Given the description of an element on the screen output the (x, y) to click on. 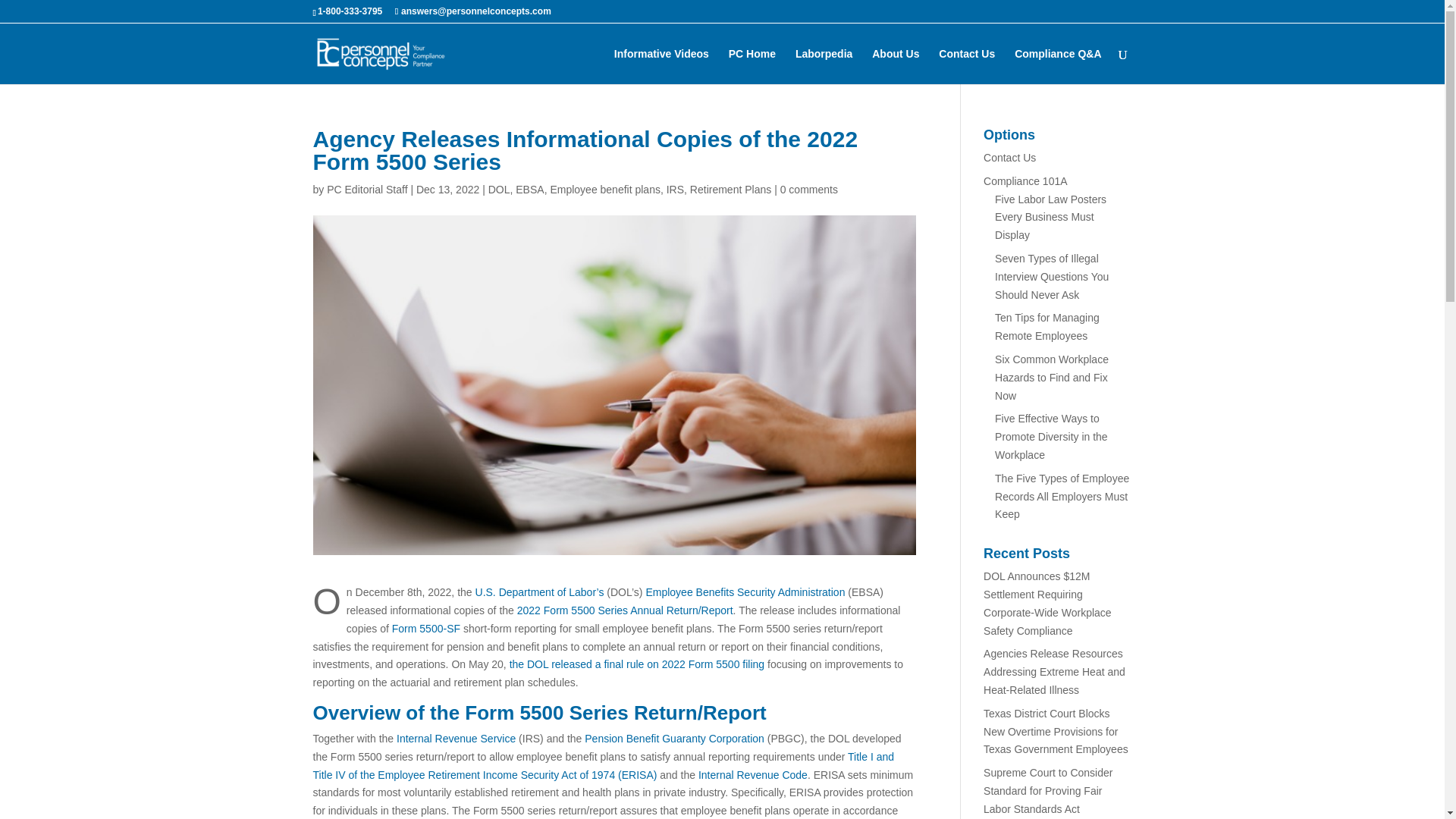
EBSA (529, 189)
Posts by PC Editorial Staff (366, 189)
PC Home (752, 66)
0 comments (809, 189)
DOL (499, 189)
Contact Us (966, 66)
PC Editorial Staff (366, 189)
1-800-333-3795 (349, 10)
the DOL released a final rule on 2022 Form 5500 filing (636, 664)
Internal Revenue Service (455, 738)
Pension Benefit Guaranty Corporation (674, 738)
Retirement Plans (730, 189)
Employee benefit plans (605, 189)
About Us (895, 66)
Compliance 101A (1025, 181)
